Given the description of an element on the screen output the (x, y) to click on. 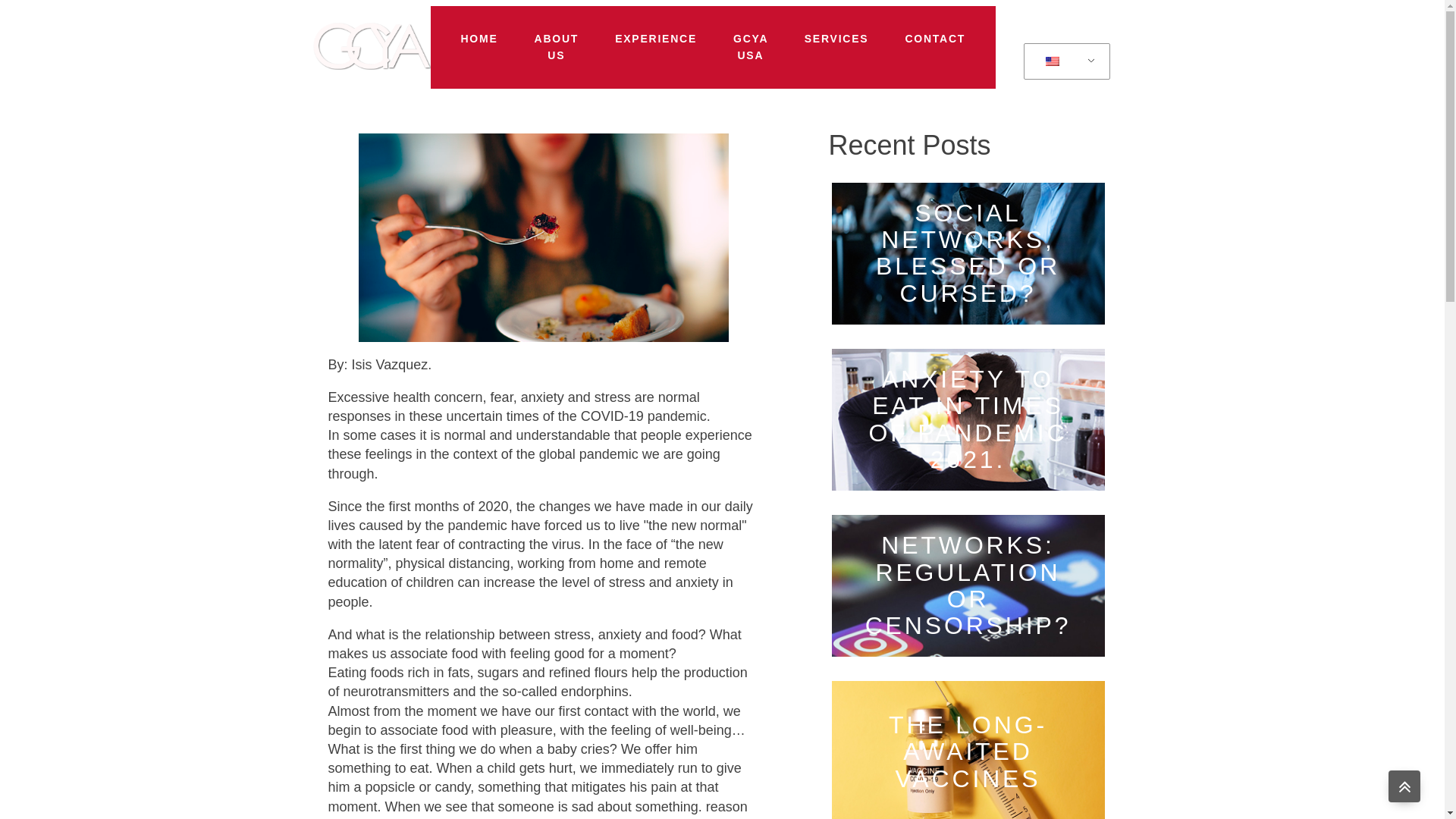
NETWORKS: REGULATION OR CENSORSHIP? (967, 585)
THE LONG-AWAITED VACCINES (967, 744)
HOME (479, 38)
EXPERIENCE (655, 38)
English (1063, 61)
ABOUT US (556, 47)
ANXIETY TO EAT IN TIMES OF PANDEMIC 2021. (967, 419)
English (1052, 61)
SOCIAL NETWORKS, BLESSED OR CURSED? (967, 253)
CONTACT (935, 38)
